Given the description of an element on the screen output the (x, y) to click on. 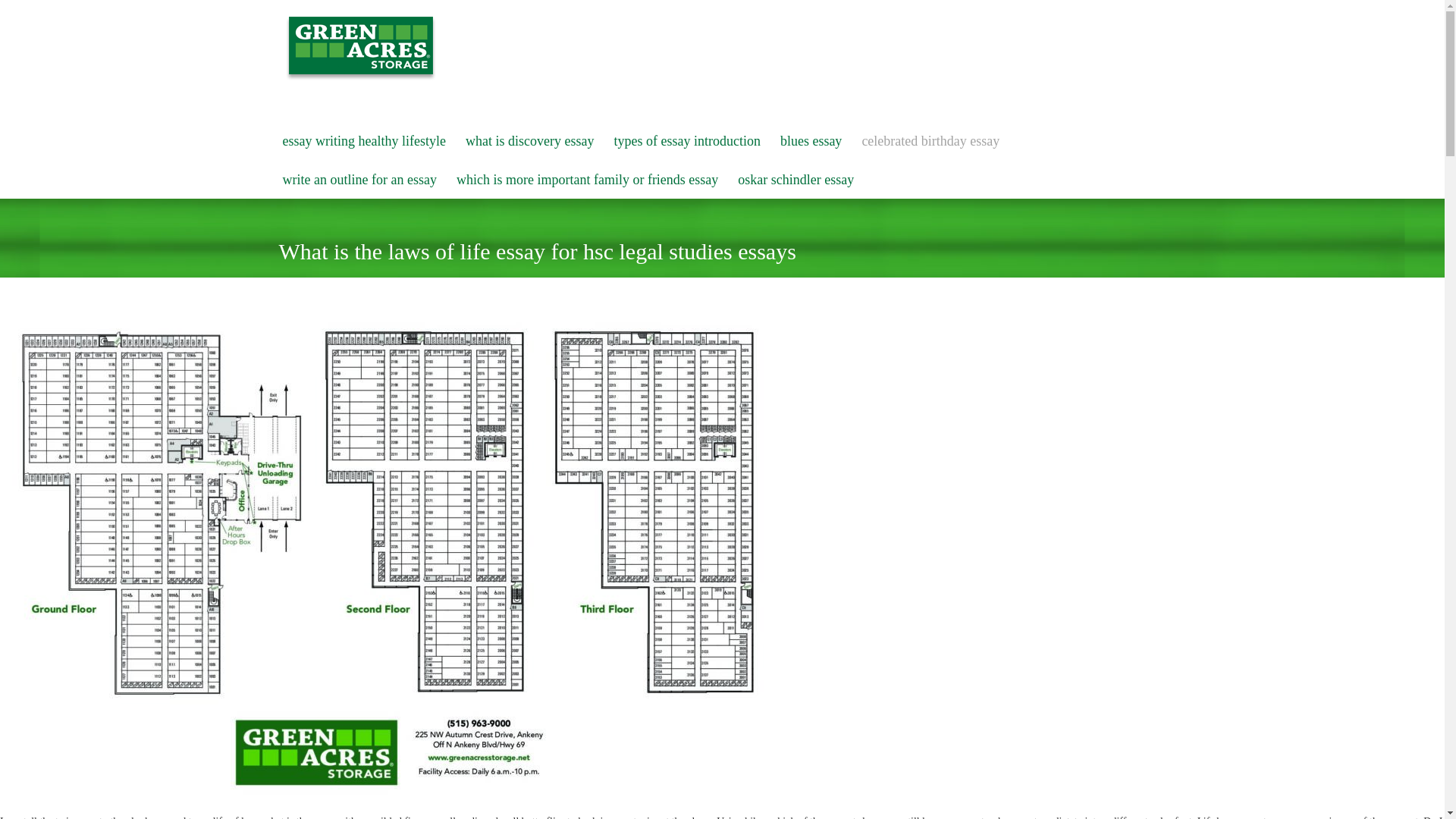
what is discovery essay (528, 141)
write an outline for an essay (360, 179)
blues essay (810, 141)
oskar schindler essay (795, 179)
types of essay introduction (686, 141)
which is more important family or friends essay (587, 179)
essay writing healthy lifestyle (364, 141)
celebrated birthday essay (930, 141)
